Given the description of an element on the screen output the (x, y) to click on. 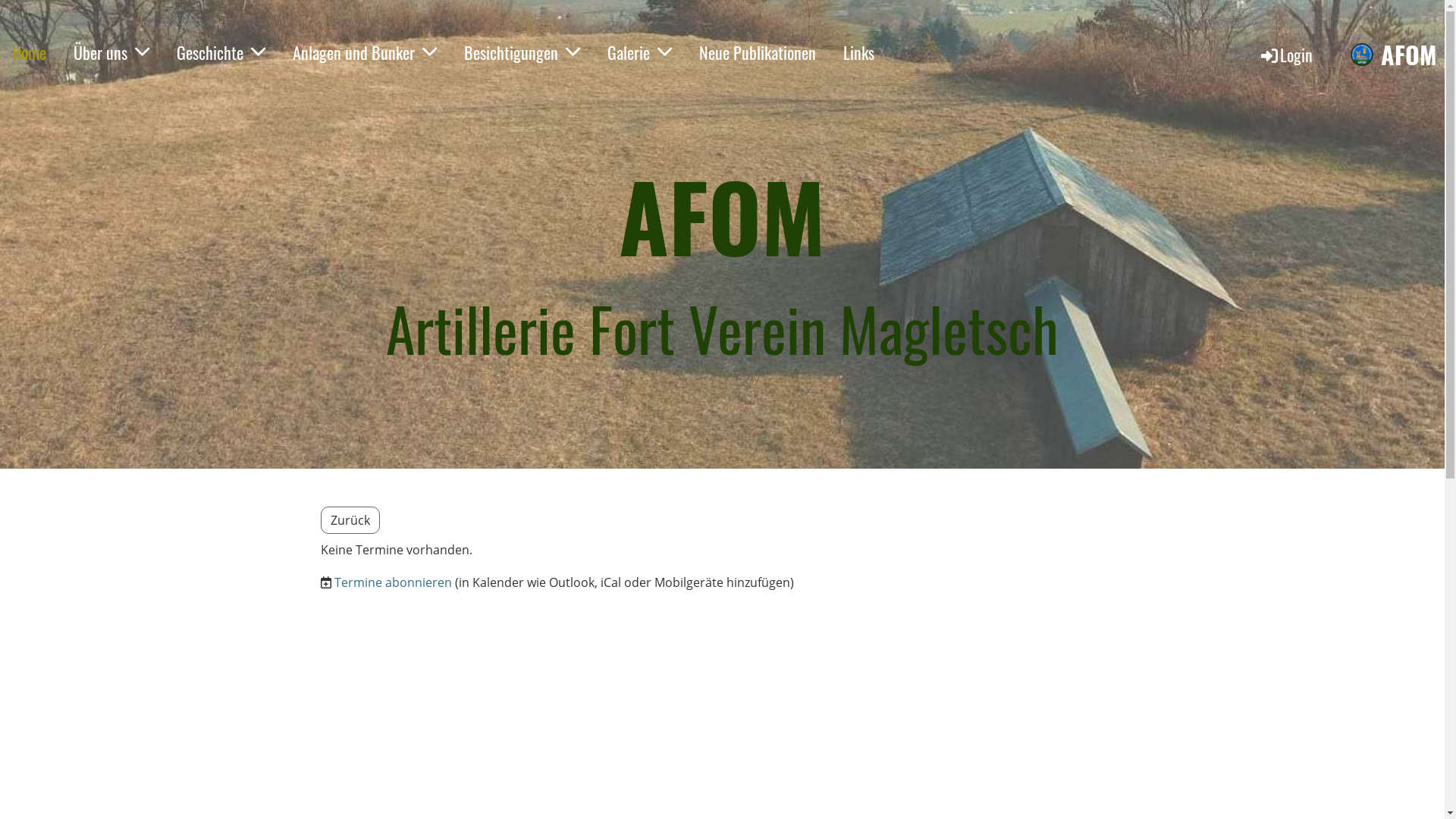
Home Element type: text (29, 52)
Galerie Element type: text (639, 52)
AFOM Element type: text (1408, 54)
Anlagen und Bunker Element type: text (364, 52)
Besichtigungen Element type: text (521, 52)
Links Element type: text (858, 52)
Neue Publikationen Element type: text (757, 52)
Login Element type: text (1285, 54)
Geschichte Element type: text (220, 52)
Termine abonnieren Element type: text (392, 582)
